Given the description of an element on the screen output the (x, y) to click on. 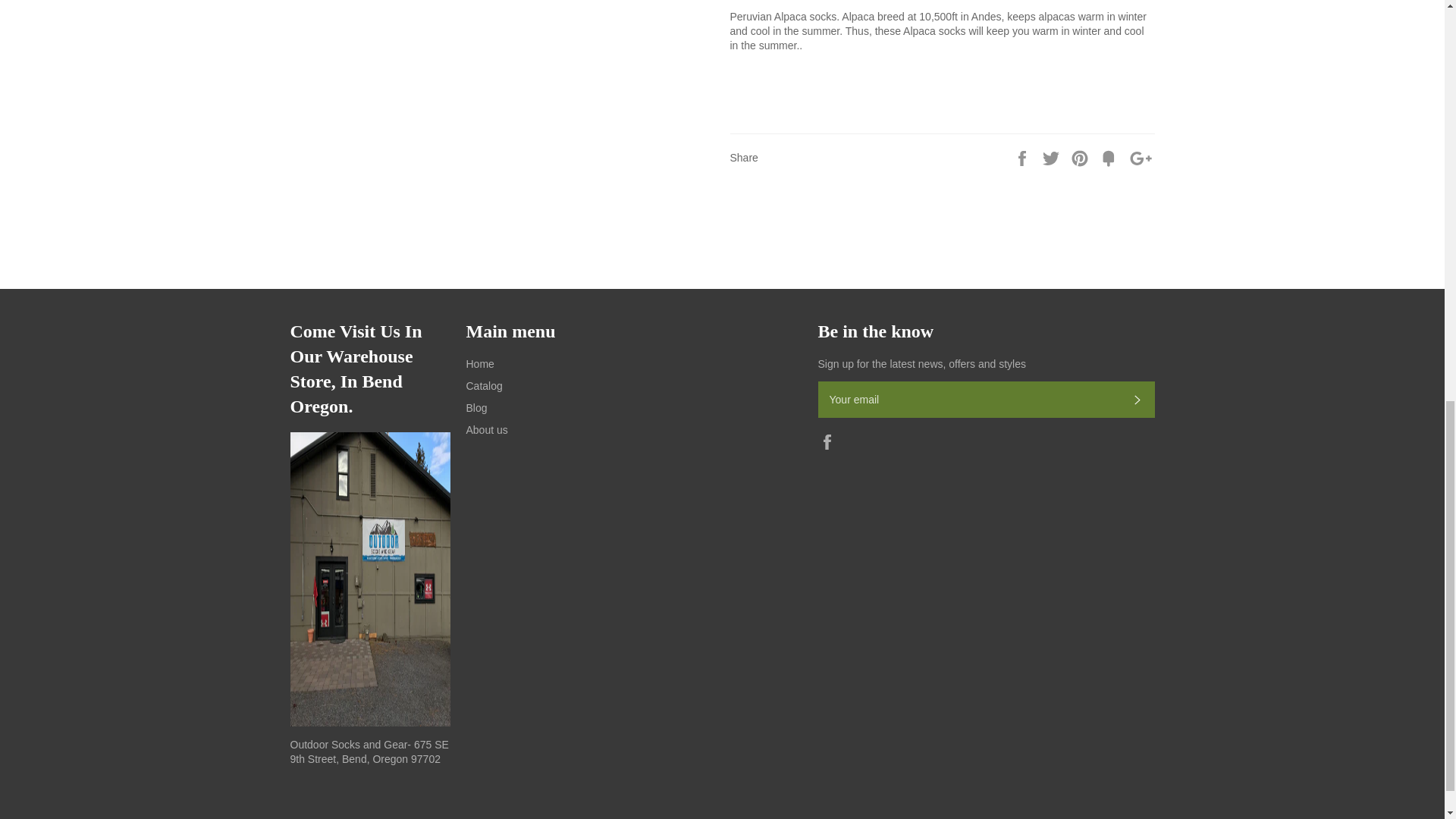
Pin it (1081, 156)
Tweet (1052, 156)
Catalog (483, 386)
outdoor socks and gear on Facebook (829, 440)
Share (1023, 156)
Home (479, 363)
Facebook (829, 440)
Blog (475, 408)
About us (485, 429)
Fancy (1110, 156)
SUBSCRIBE (1136, 399)
